Given the description of an element on the screen output the (x, y) to click on. 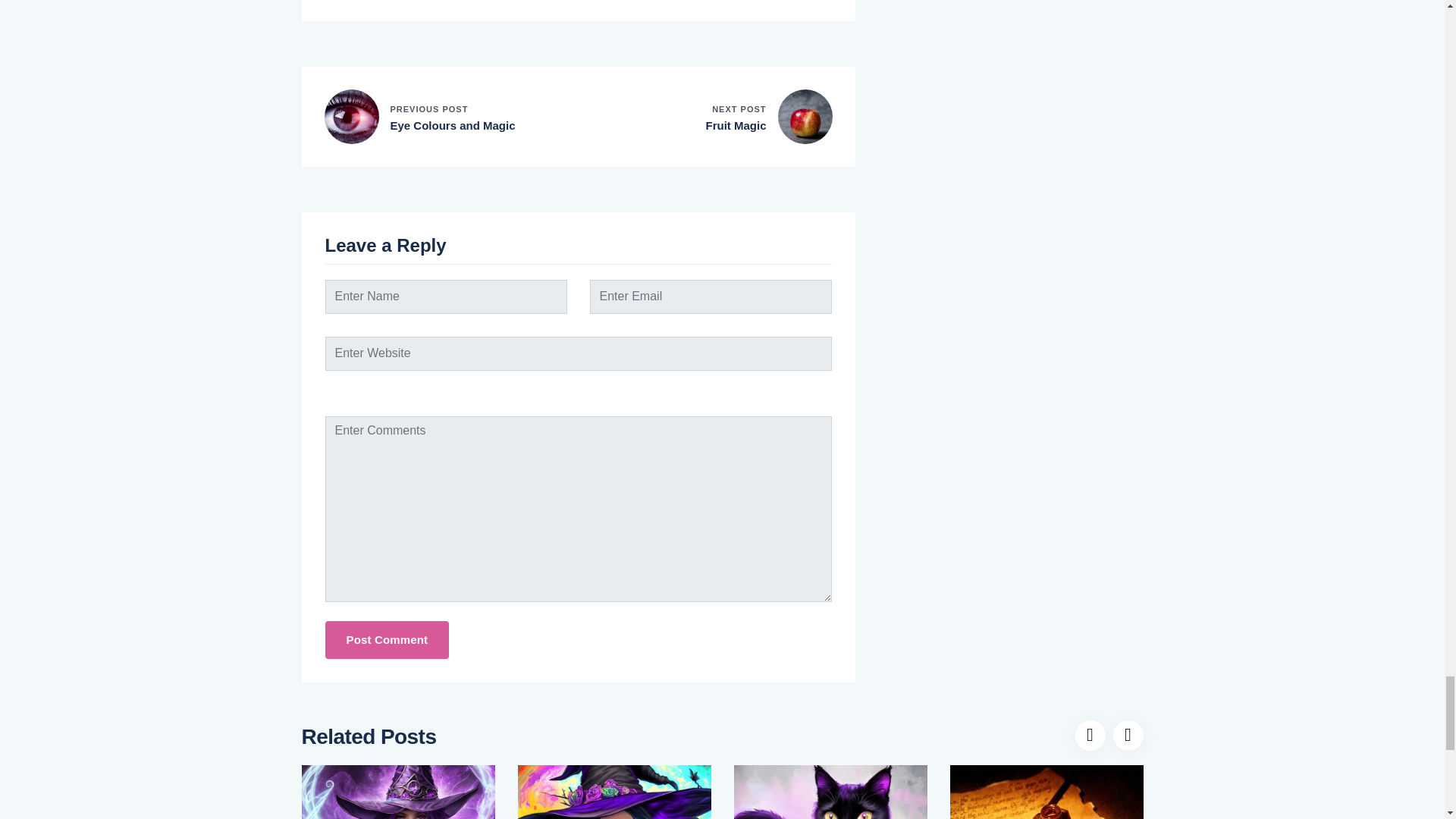
Post Comment (386, 640)
